Given the description of an element on the screen output the (x, y) to click on. 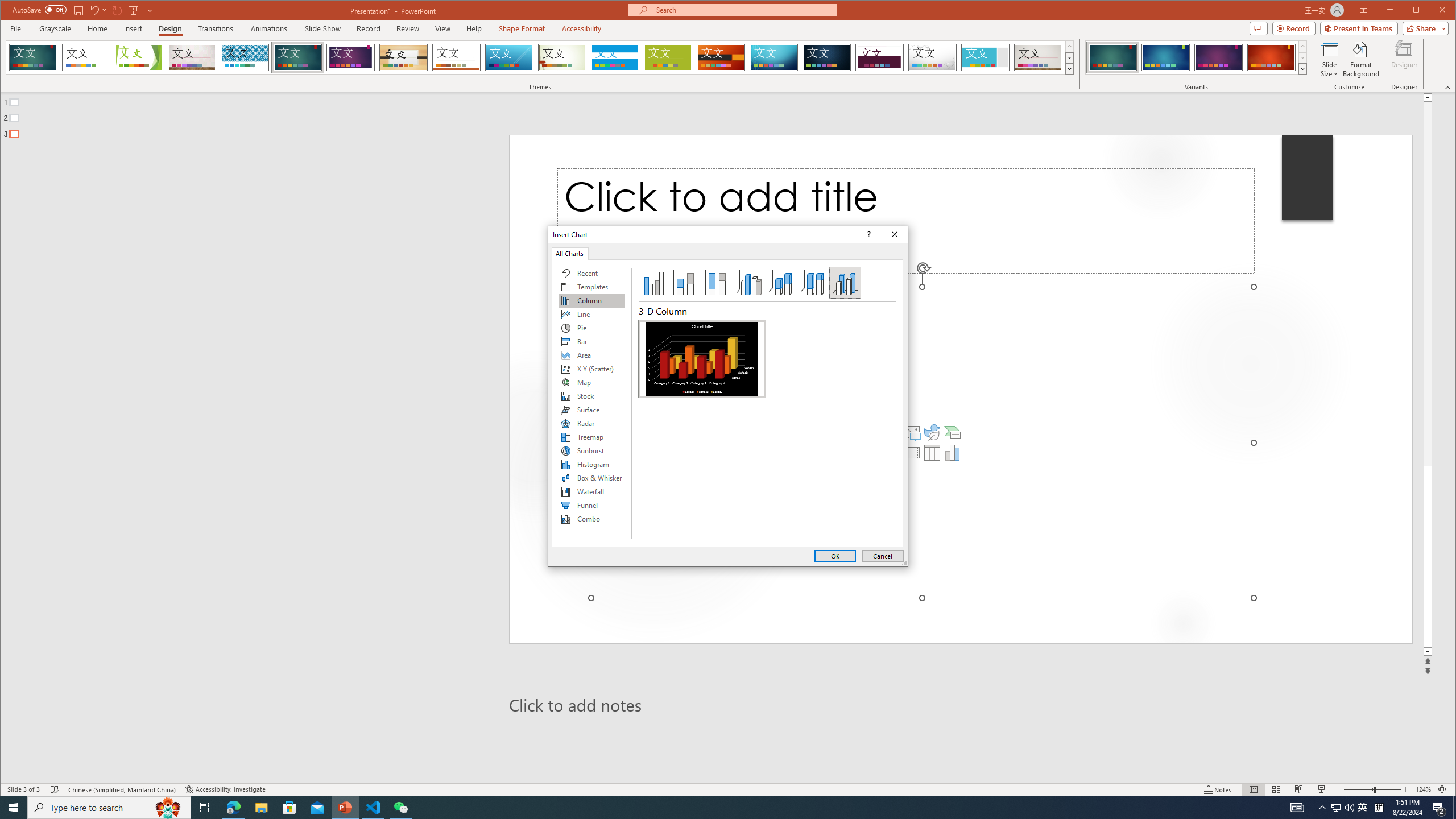
Stock (591, 395)
Zoom 124% (1422, 789)
Treemap (591, 436)
Class: NetUIGalleryContainer (701, 429)
Recent (591, 273)
Bar (591, 341)
